Given the description of an element on the screen output the (x, y) to click on. 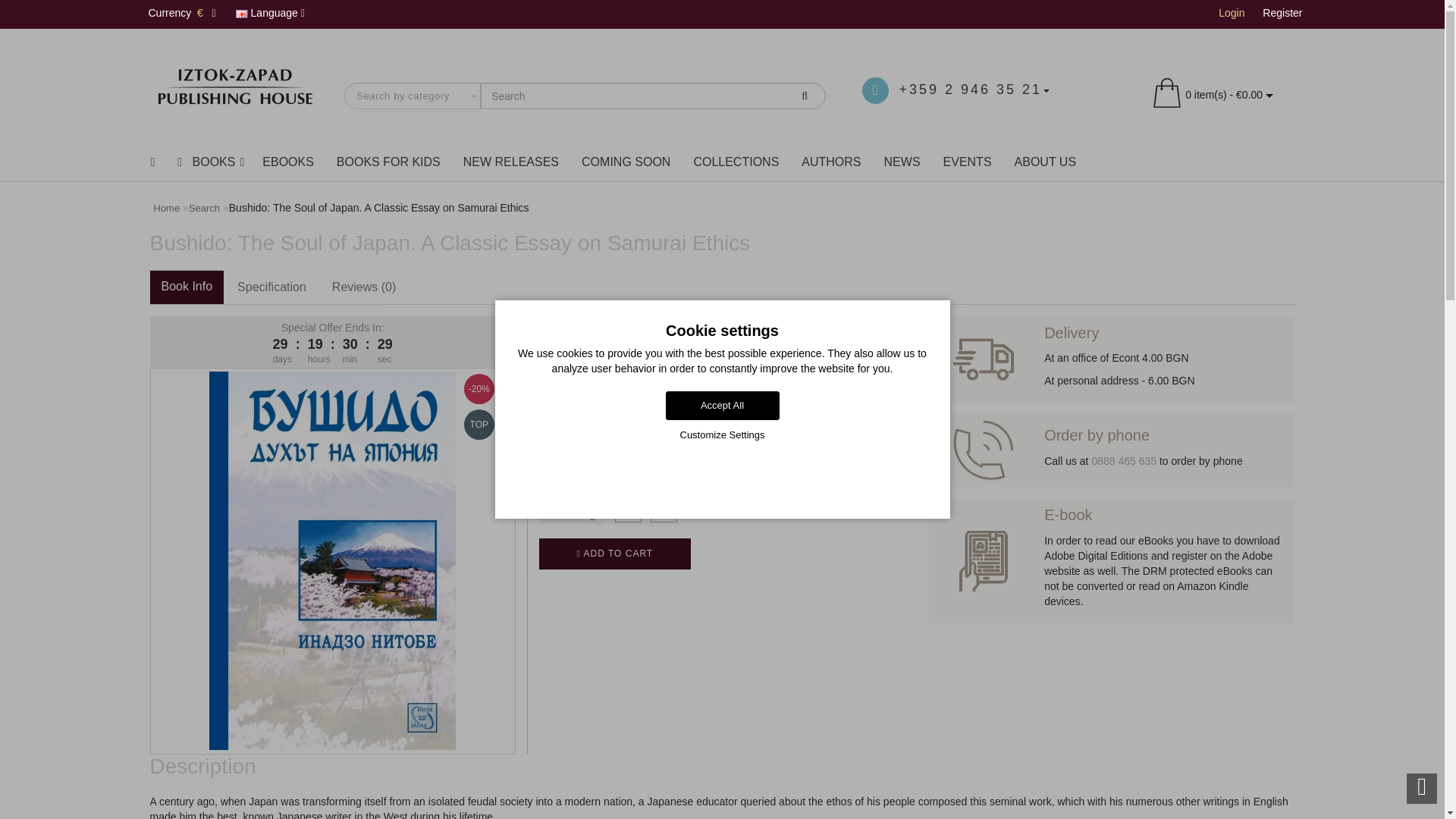
   BOOKS (207, 161)
Login (1231, 12)
Register (1281, 12)
Qty (561, 509)
English (241, 13)
Add to Wish List (628, 509)
Language (269, 13)
Compare this Product (663, 509)
1 (561, 509)
